Given the description of an element on the screen output the (x, y) to click on. 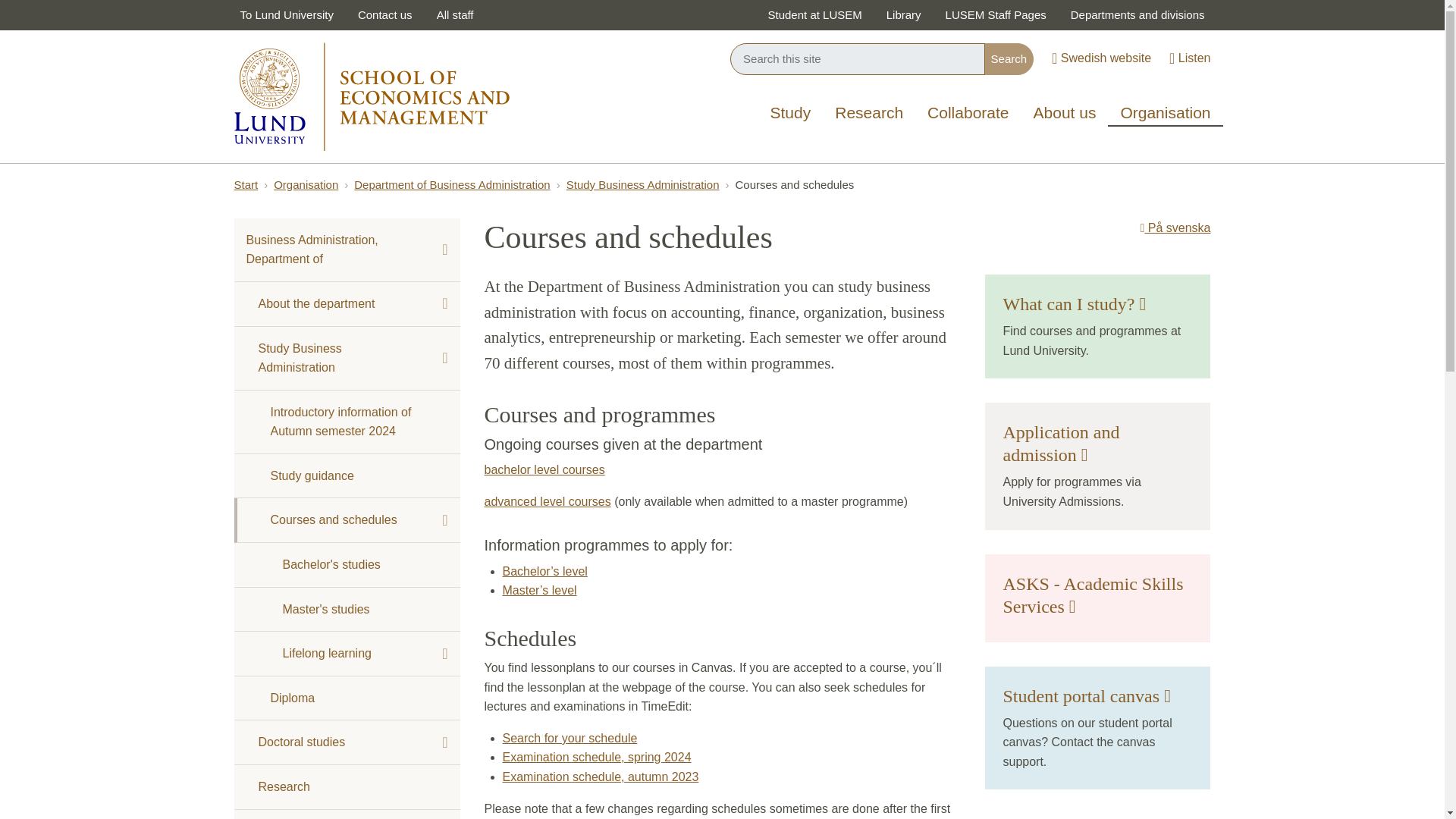
Contact us (385, 15)
LUSEM Staff Pages (995, 15)
To Lund University (286, 15)
All staff (455, 15)
Collaborate (967, 113)
Departments and divisions (1137, 15)
Search (1008, 59)
Library (904, 15)
Research (868, 113)
Search (1008, 59)
